Given the description of an element on the screen output the (x, y) to click on. 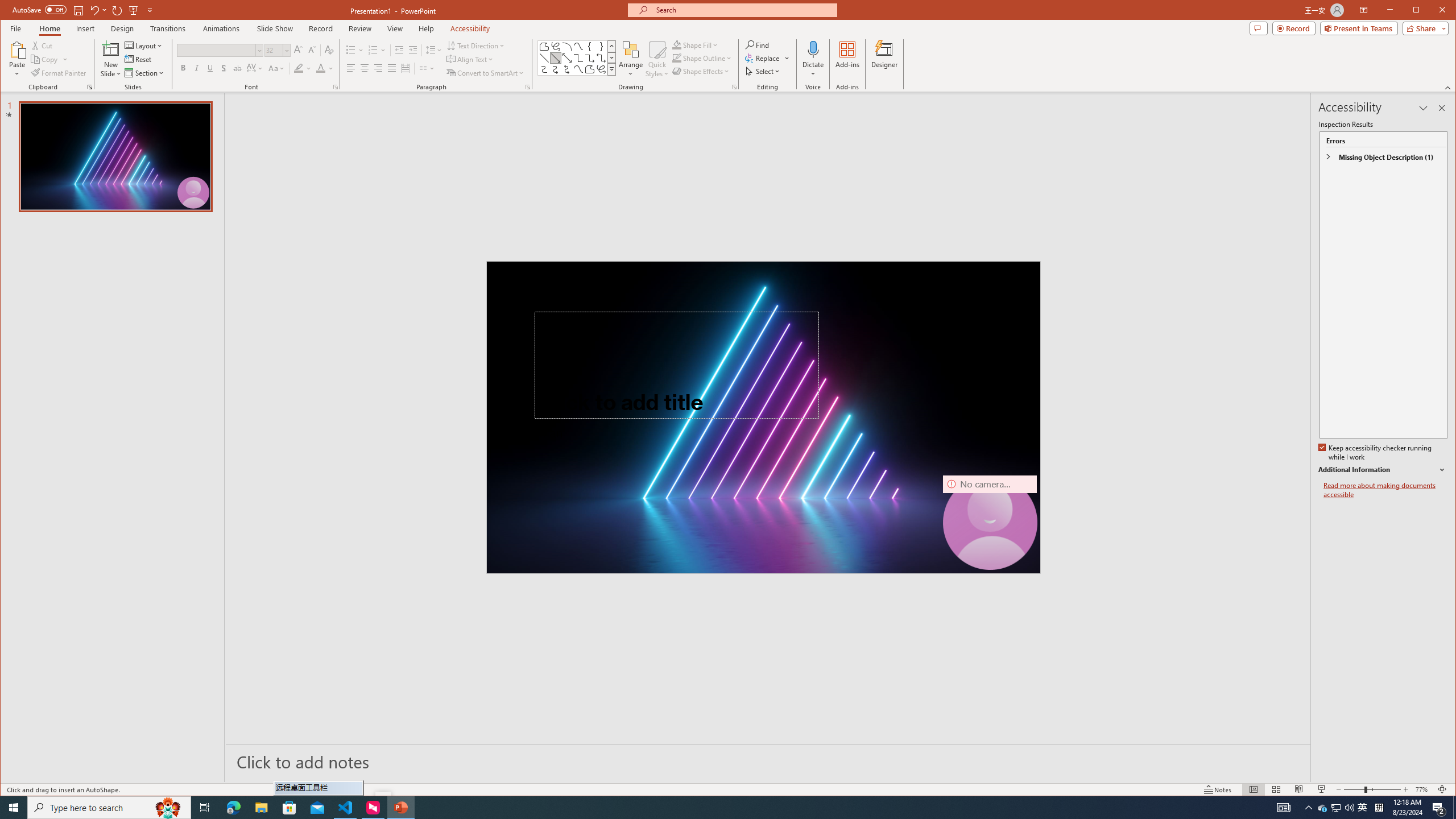
Line Arrow: Double (567, 57)
Connector: Curved (544, 69)
Camera 7, No camera detected. (990, 522)
